Given the description of an element on the screen output the (x, y) to click on. 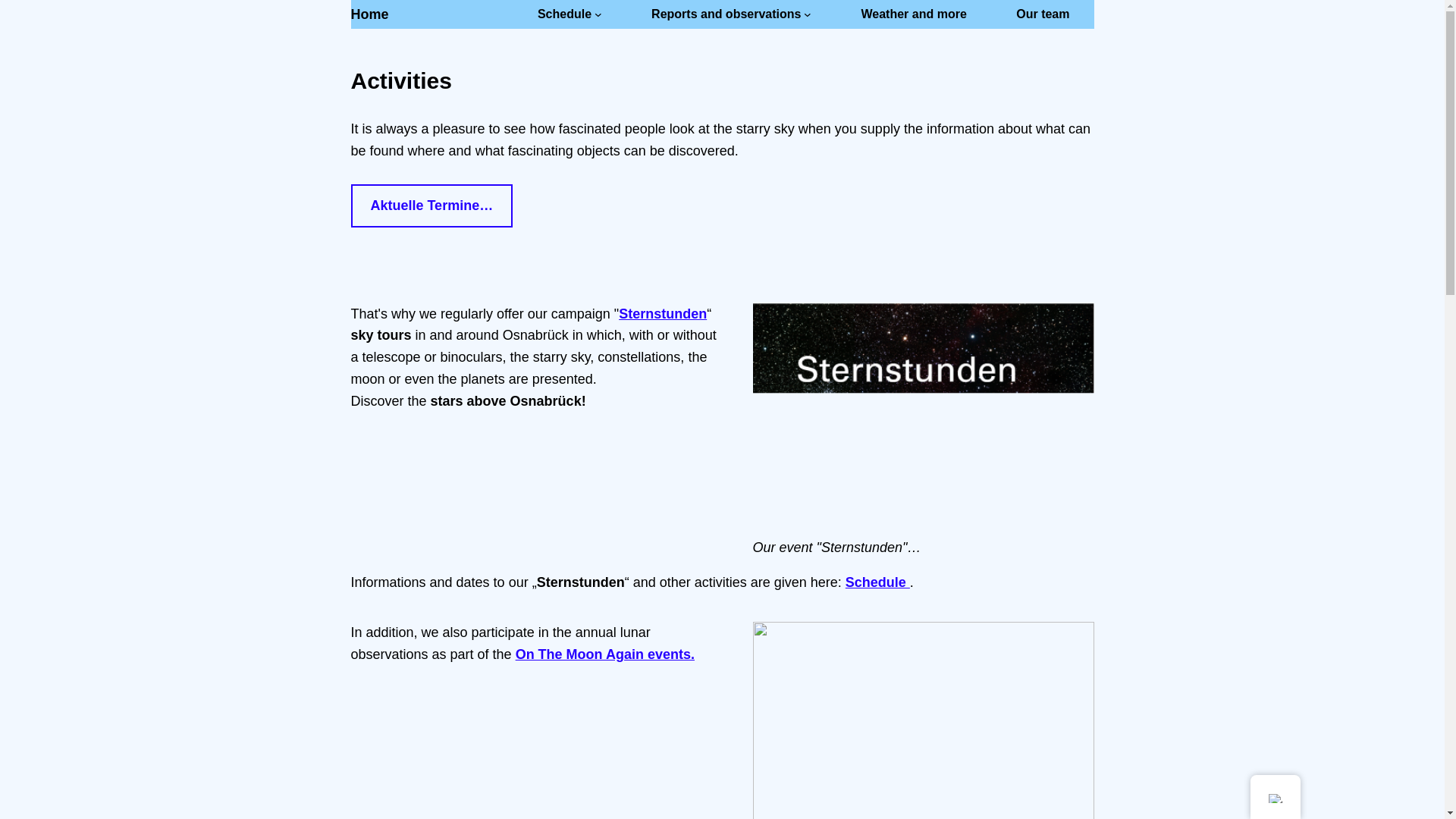
On The Moon Again events. (604, 654)
Schedule (564, 14)
German (1274, 798)
Our team (1042, 14)
Schedule (877, 581)
Reports and observations (725, 14)
Home (369, 14)
Weather and more (913, 14)
Sternstunden (662, 313)
